Given the description of an element on the screen output the (x, y) to click on. 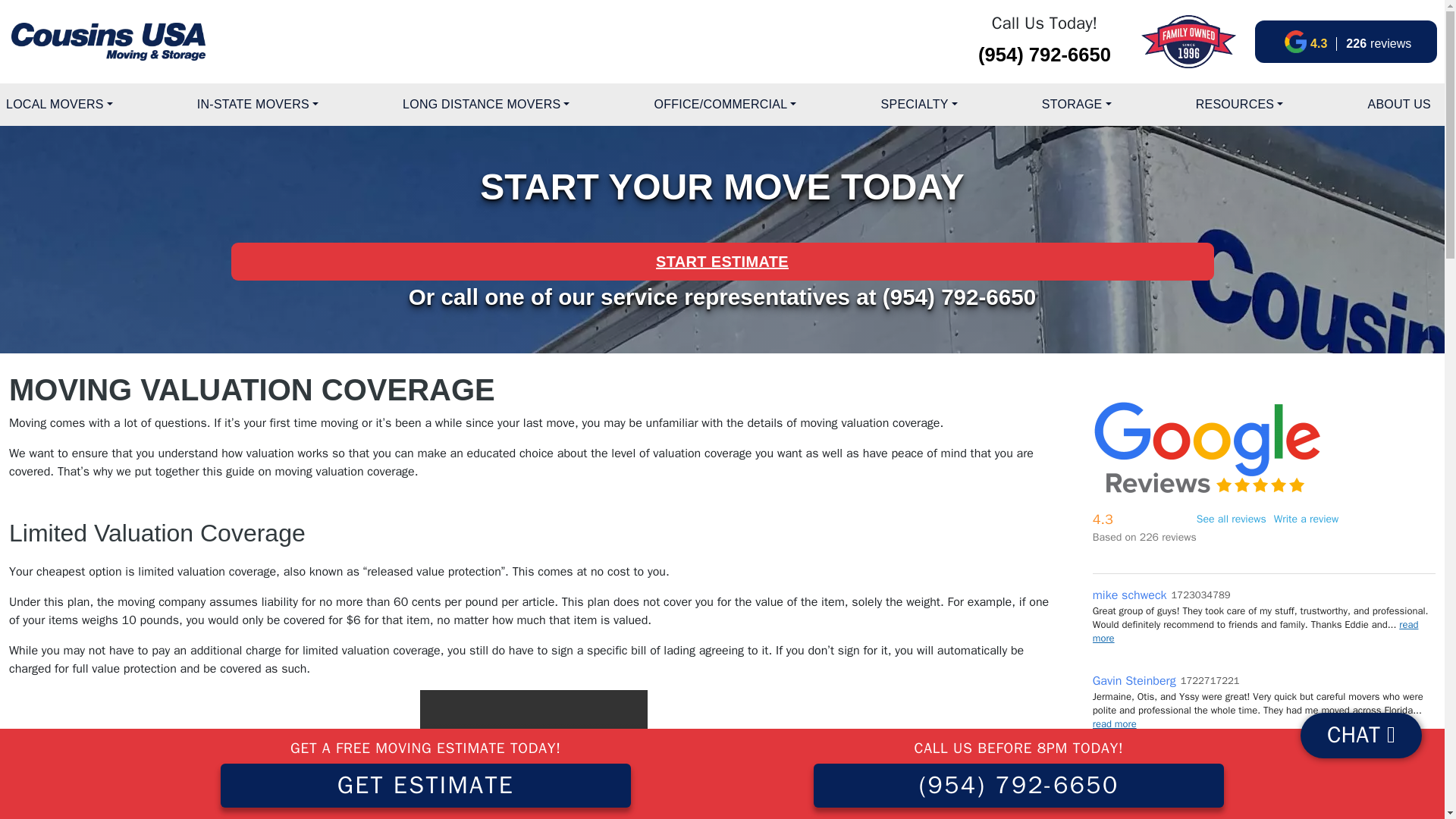
LOCAL MOVERS (59, 104)
Long Distance Movers (485, 104)
Local Movers (59, 104)
In-State Movers (257, 104)
LONG DISTANCE MOVERS (485, 104)
IN-STATE MOVERS (257, 104)
